Given the description of an element on the screen output the (x, y) to click on. 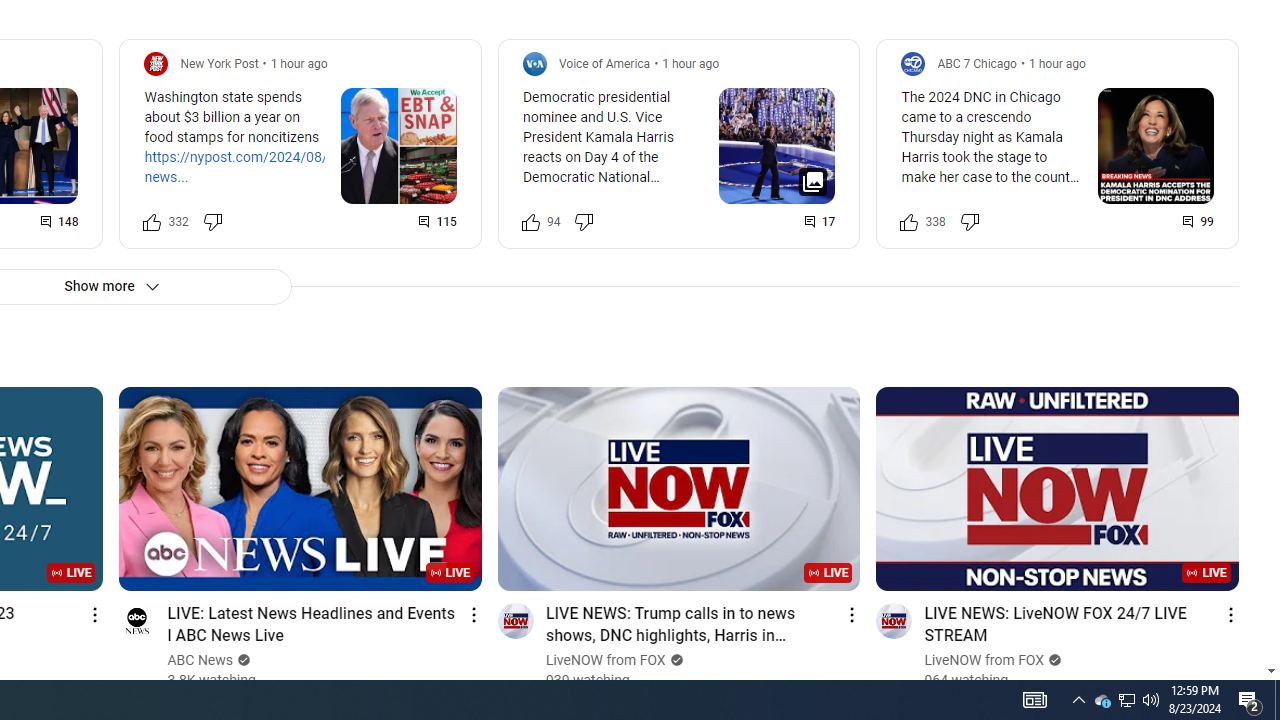
Like this post along with 332 other people (151, 221)
1 hour ago (1056, 63)
ABC News (200, 660)
Action menu (1229, 614)
